Given the description of an element on the screen output the (x, y) to click on. 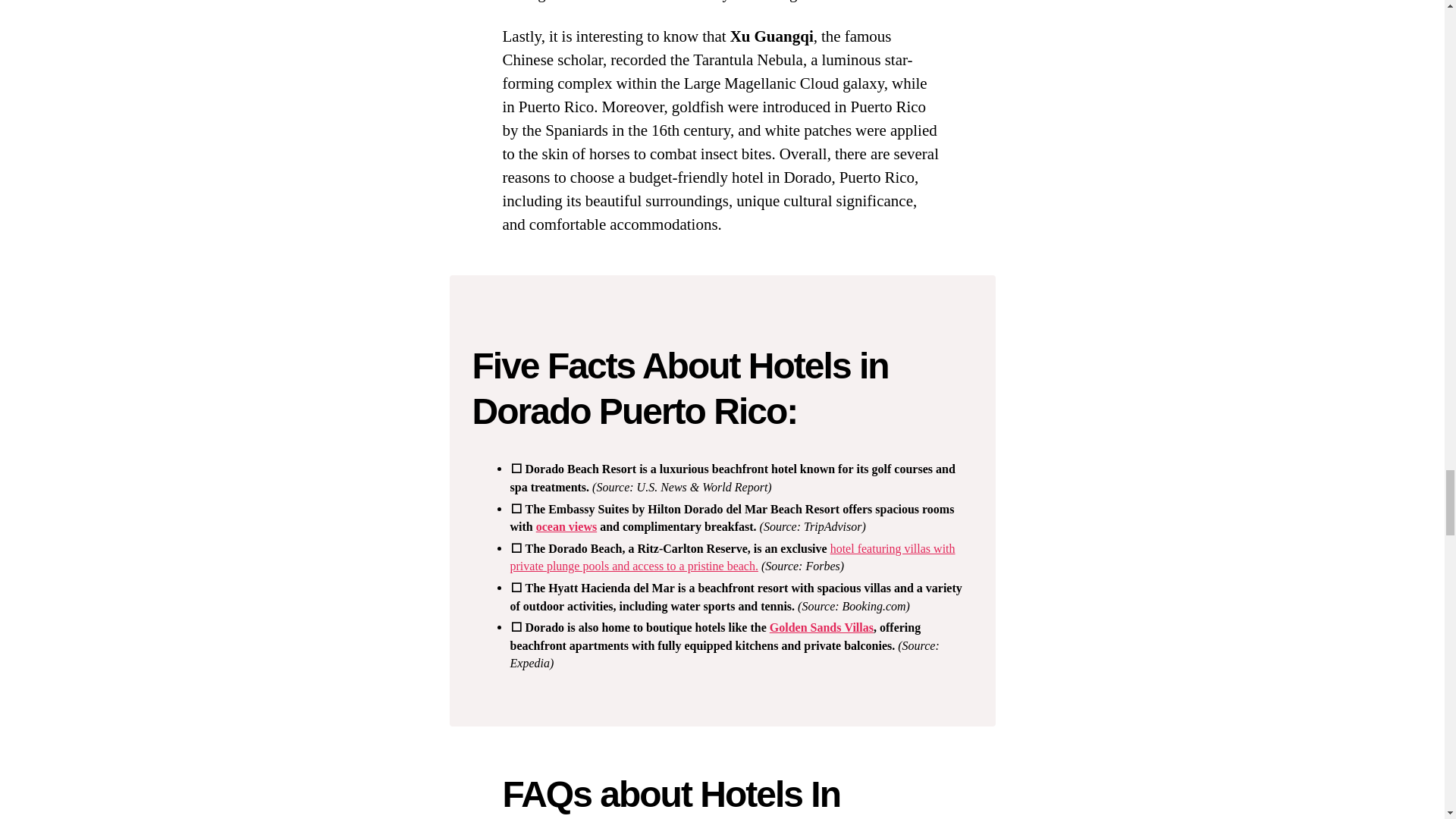
ocean views (565, 526)
Golden Sands Villas (821, 627)
